Given the description of an element on the screen output the (x, y) to click on. 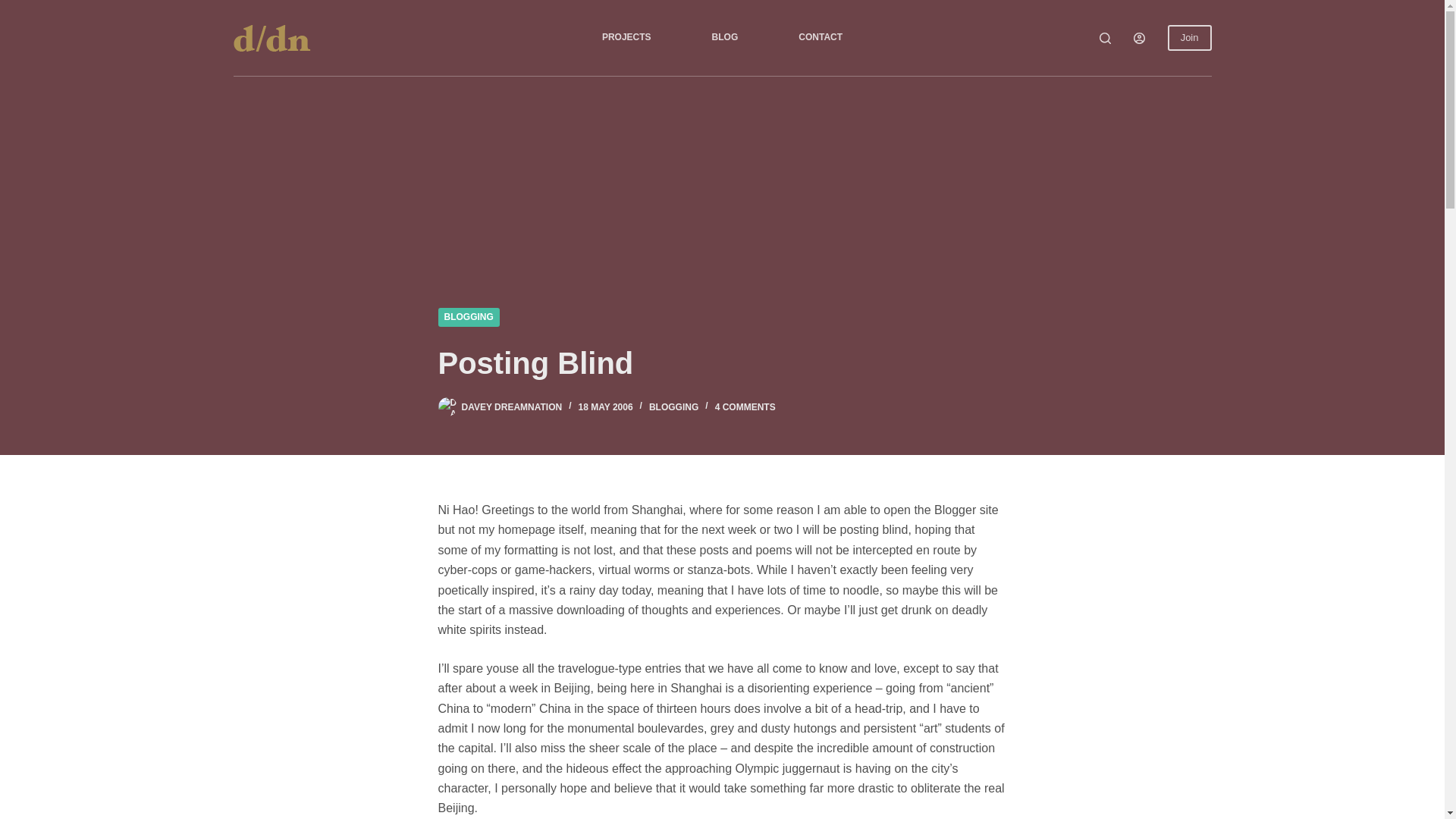
BLOGGING (468, 316)
Posting Blind (722, 363)
DAVEY DREAMNATION (511, 407)
BLOGGING (673, 407)
PROJECTS (626, 38)
Posts by Davey Dreamnation (511, 407)
Skip to content (15, 7)
Join (1189, 37)
BLOG (724, 38)
4 COMMENTS (745, 407)
CONTACT (820, 38)
